Given the description of an element on the screen output the (x, y) to click on. 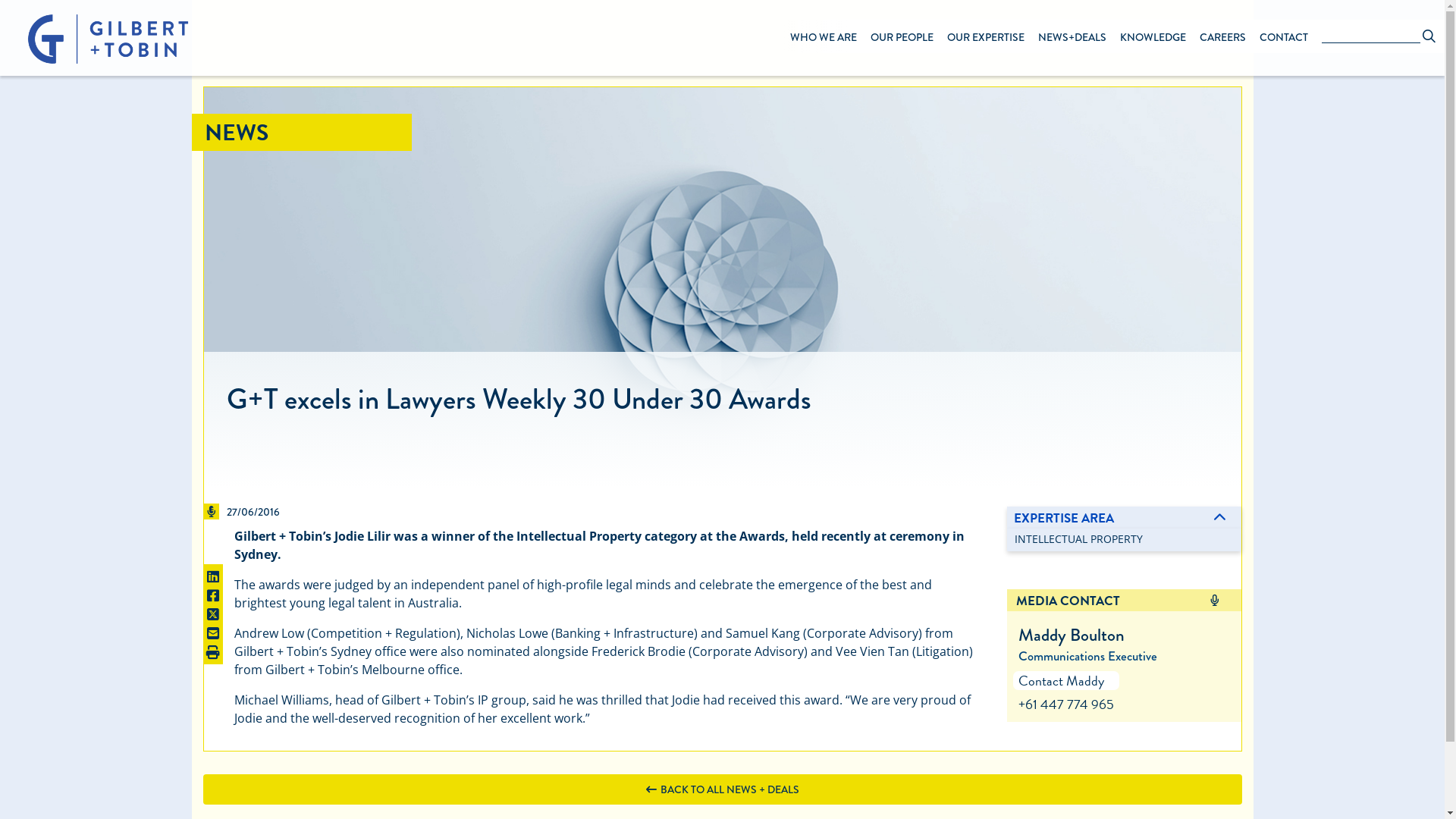
+61 447 774 965 Element type: text (1065, 703)
Maddy Boulton Element type: text (1071, 634)
KNOWLEDGE Element type: text (1152, 36)
Skip to main content Element type: text (721, 1)
WHO WE ARE Element type: text (823, 36)
News Element type: hover (721, 288)
BACK TO ALL NEWS + DEALS Element type: text (722, 789)
Home Element type: hover (95, 38)
NEWS+DEALS Element type: text (1072, 36)
OUR PEOPLE Element type: text (901, 36)
Contact Maddy Element type: text (1061, 680)
INTELLECTUAL PROPERTY Element type: text (1078, 538)
NEWS Element type: text (236, 132)
CONTACT Element type: text (1283, 36)
OUR EXPERTISE Element type: text (985, 36)
CAREERS Element type: text (1222, 36)
